Given the description of an element on the screen output the (x, y) to click on. 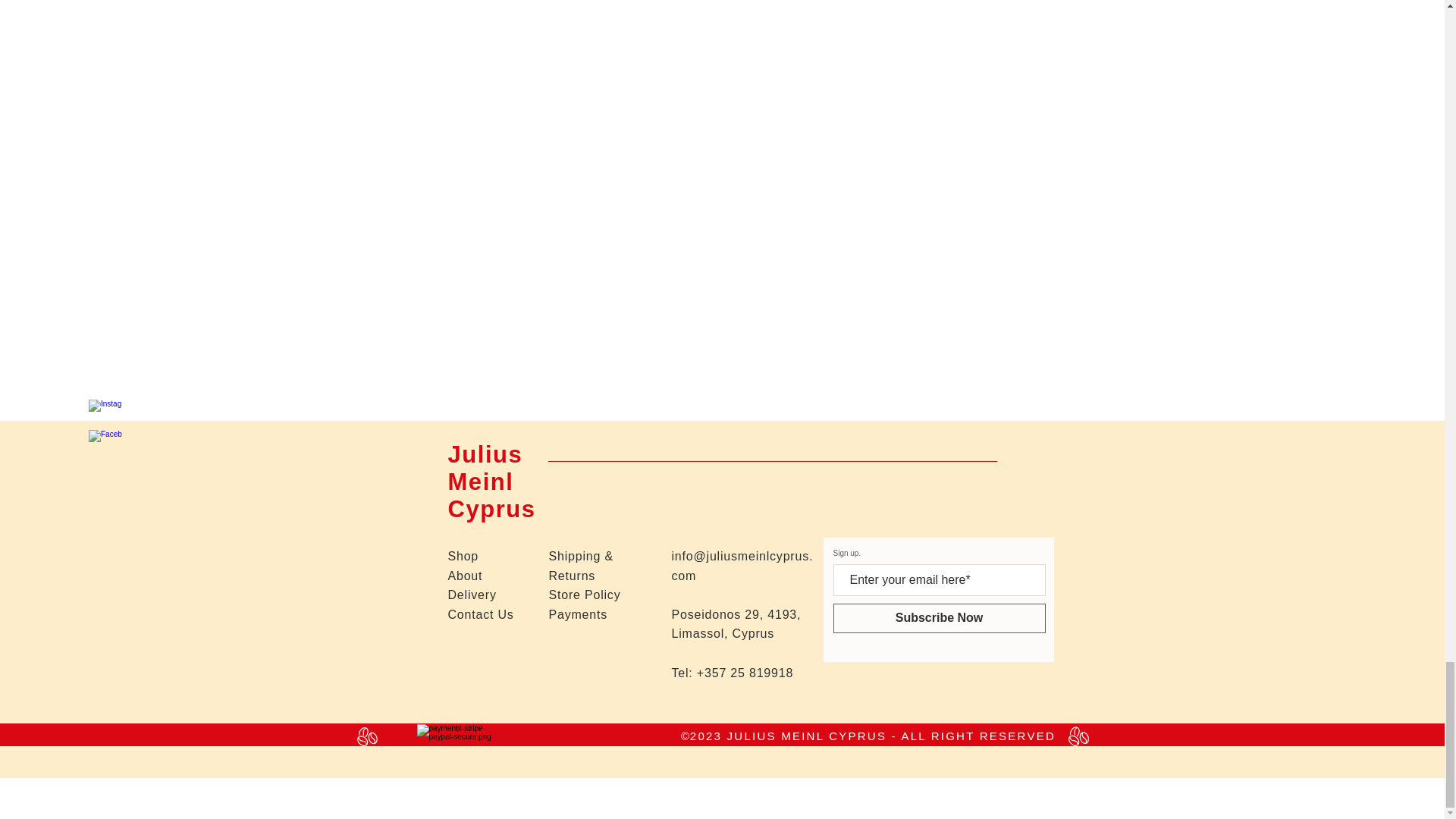
Store Policy (584, 594)
About (463, 575)
Delivery (471, 594)
Subscribe Now (938, 618)
Shop (462, 555)
Contact Us (479, 614)
Julius Meinl Cyprus (490, 481)
Payments (578, 614)
